Given the description of an element on the screen output the (x, y) to click on. 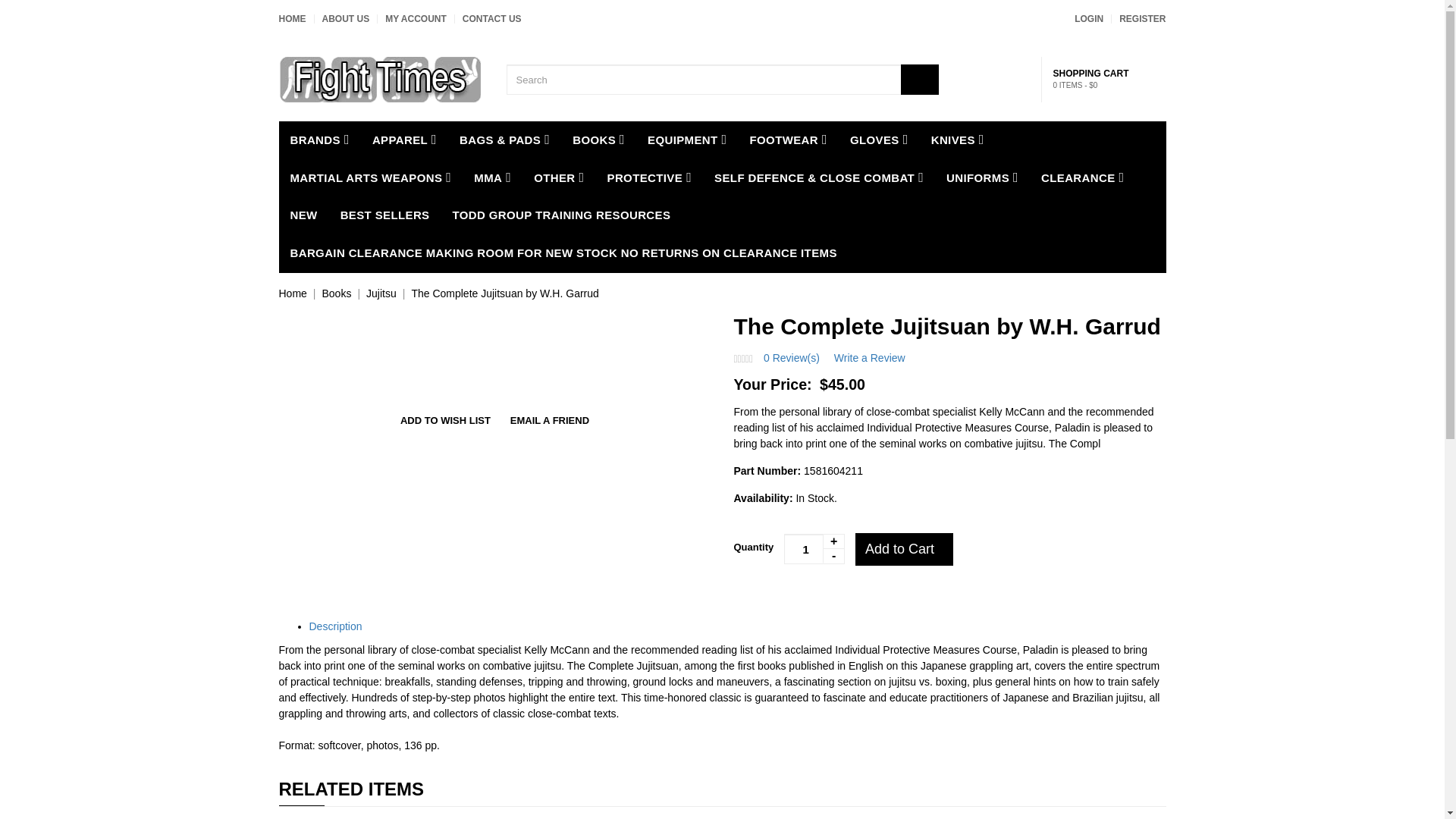
BOOKS (598, 139)
MY ACCOUNT (415, 18)
LOGIN (1088, 18)
HOME (292, 18)
ABOUT US (345, 18)
1 (814, 548)
CONTACT US (492, 18)
APPAREL (404, 139)
REGISTER (1142, 18)
BRANDS (320, 139)
